Given the description of an element on the screen output the (x, y) to click on. 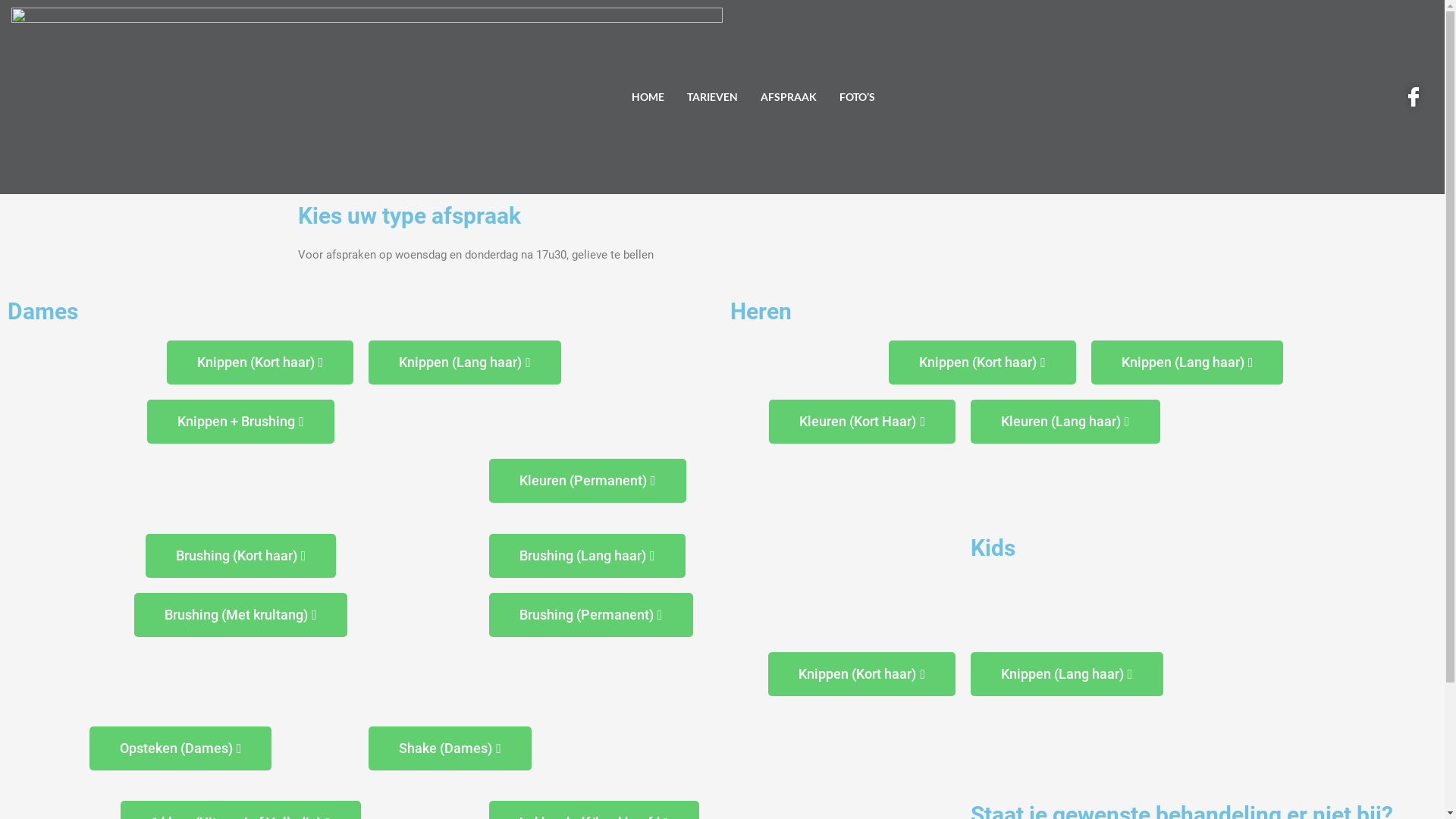
Kleuren (Lang haar) Element type: text (1065, 421)
HOME Element type: text (647, 97)
Kleuren (Kort Haar) Element type: text (861, 421)
Knippen (Lang haar) Element type: text (464, 362)
Knippen + Brushing Element type: text (240, 421)
Brushing (Kort haar) Element type: text (240, 555)
AFSPRAAK Element type: text (788, 97)
Knippen (Kort haar) Element type: text (982, 362)
Brushing (Lang haar) Element type: text (587, 555)
TARIEVEN Element type: text (712, 97)
Knippen (Kort haar) Element type: text (861, 674)
Kleuren (Permanent) Element type: text (587, 480)
Shake (Dames) Element type: text (449, 748)
Opsteken (Dames) Element type: text (180, 748)
Knippen (Kort haar) Element type: text (260, 362)
Brushing (Met krultang) Element type: text (240, 615)
Knippen (Lang haar) Element type: text (1066, 674)
Brushing (Permanent) Element type: text (591, 615)
Knippen (Lang haar) Element type: text (1187, 362)
